Given the description of an element on the screen output the (x, y) to click on. 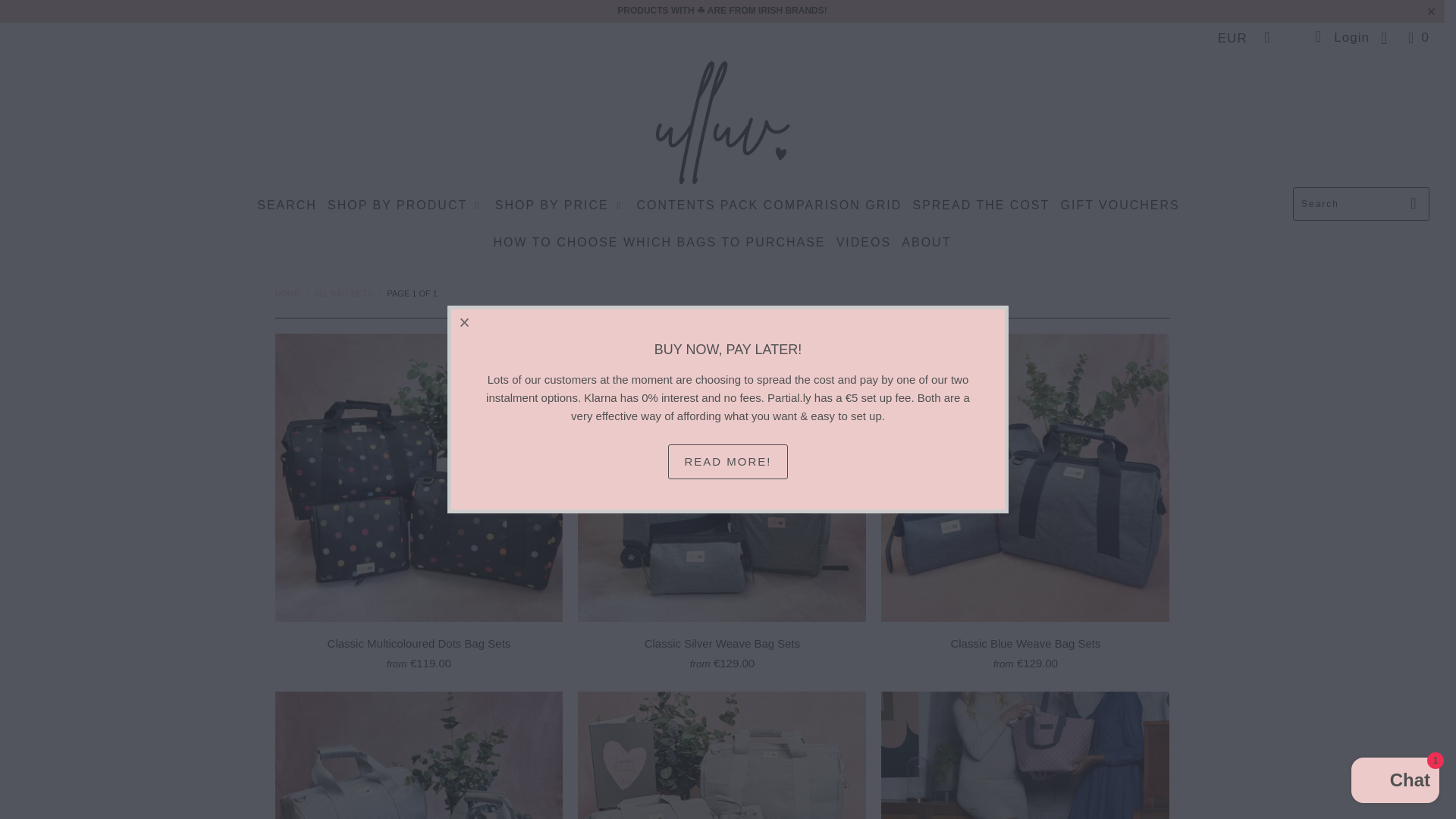
All Bag Sets (343, 293)
My Account  (1340, 37)
Ulluv Ltd (287, 293)
Shopify online store chat (1395, 781)
Ulluv Ltd (722, 123)
